Given the description of an element on the screen output the (x, y) to click on. 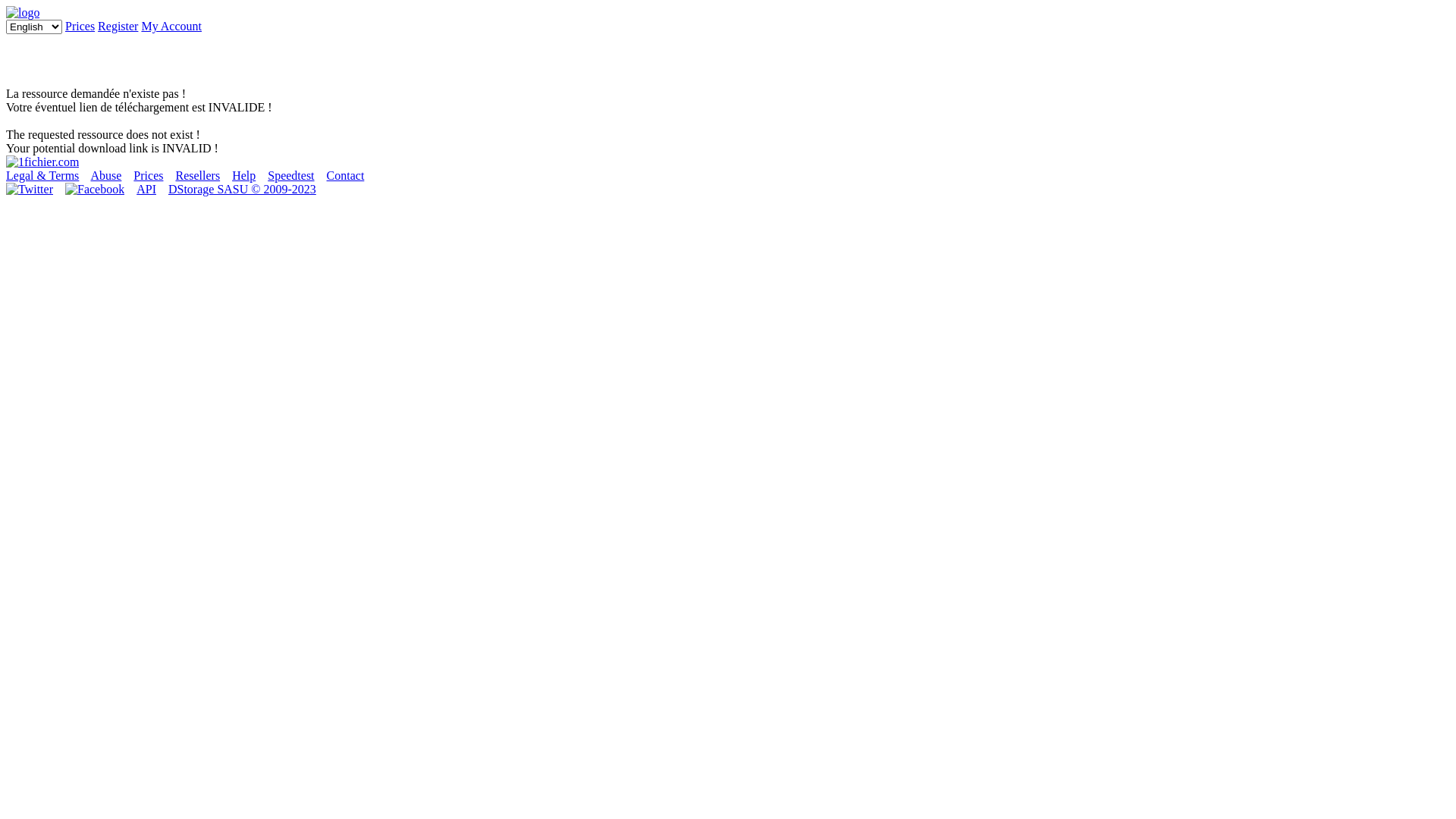
Prices Element type: text (79, 25)
Register Element type: text (117, 25)
1fichier.com Element type: hover (22, 12)
Back to home page Element type: hover (42, 161)
My Account Element type: text (171, 25)
Legal & Terms Element type: text (42, 175)
Resellers Element type: text (197, 175)
Abuse Element type: text (105, 175)
Prices Element type: text (148, 175)
Speedtest Element type: text (290, 175)
Help Element type: text (243, 175)
Contact Element type: text (345, 175)
API Element type: text (146, 188)
